Given the description of an element on the screen output the (x, y) to click on. 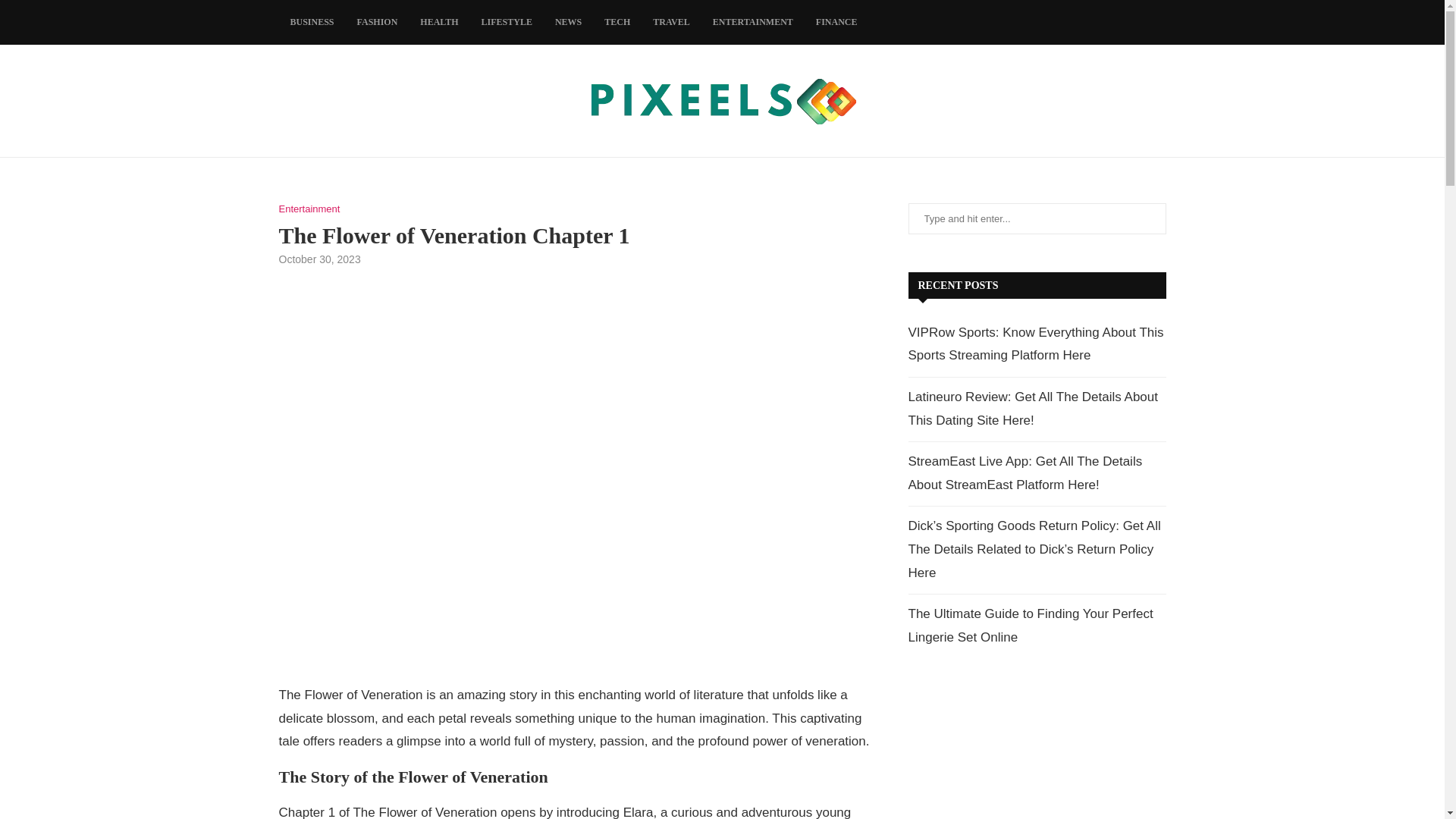
Entertainment (309, 209)
TRAVEL (671, 22)
ENTERTAINMENT (753, 22)
NEWS (567, 22)
FASHION (377, 22)
HEALTH (438, 22)
TECH (617, 22)
LIFESTYLE (506, 22)
BUSINESS (312, 22)
FINANCE (837, 22)
